Given the description of an element on the screen output the (x, y) to click on. 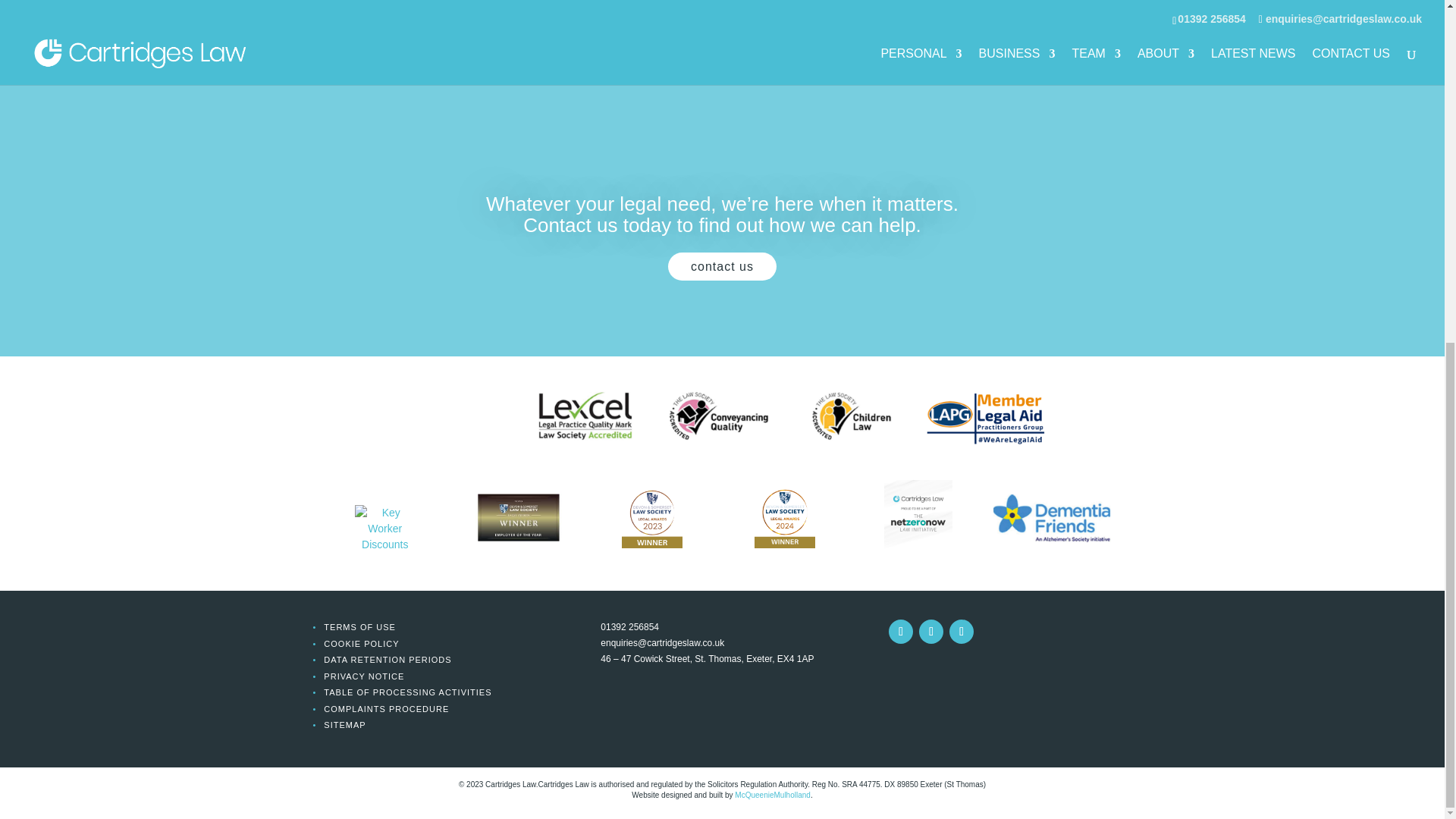
Follow on Facebook (961, 631)
Follow on X (930, 631)
Follow on LinkedIn (900, 631)
